Given the description of an element on the screen output the (x, y) to click on. 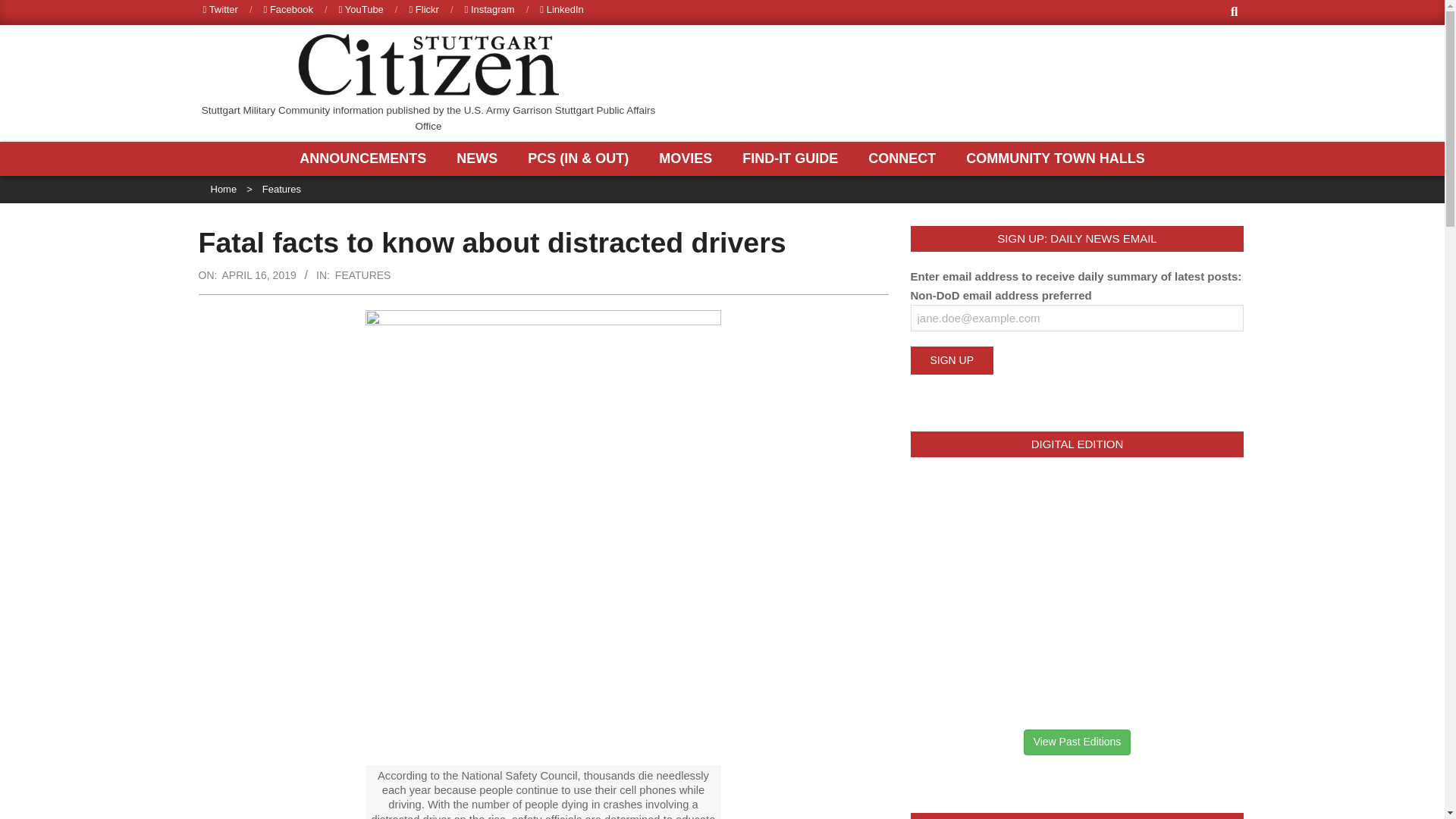
CONNECT (906, 158)
LinkedIn (561, 9)
NEWS (480, 158)
Go to StuttgartCitizen.com. (224, 188)
Instagram (489, 9)
YouTube (361, 9)
Facebook (288, 9)
FIND-IT GUIDE (793, 158)
Sign up (951, 360)
Tuesday, April 16, 2019, 11:08 am (258, 275)
